Given the description of an element on the screen output the (x, y) to click on. 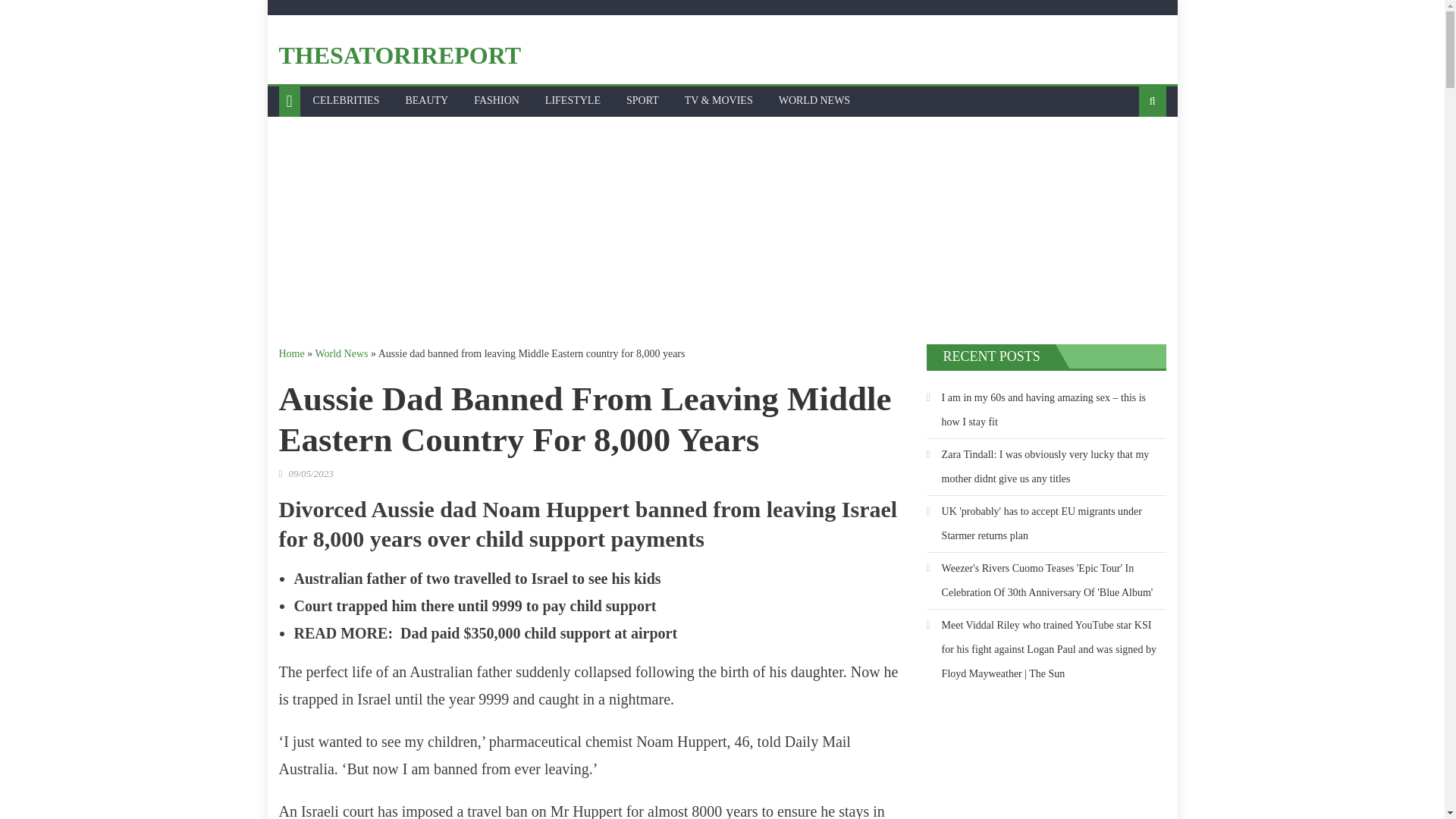
World News (341, 353)
BEAUTY (426, 100)
SPORT (641, 100)
Home (291, 353)
Search (1128, 150)
FASHION (497, 100)
THESATORIREPORT (400, 54)
CELEBRITIES (346, 100)
WORLD NEWS (814, 100)
LIFESTYLE (572, 100)
